Given the description of an element on the screen output the (x, y) to click on. 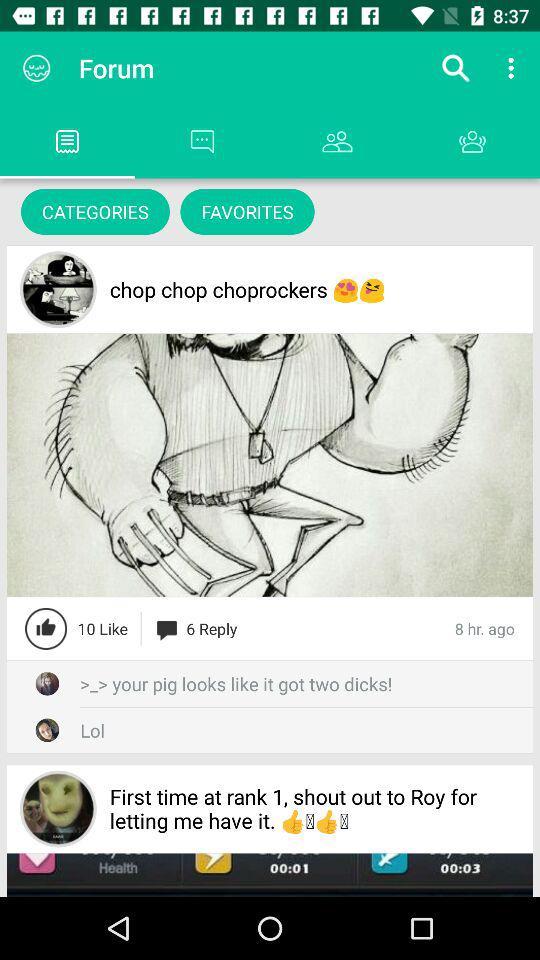
scroll until the favorites item (247, 211)
